Given the description of an element on the screen output the (x, y) to click on. 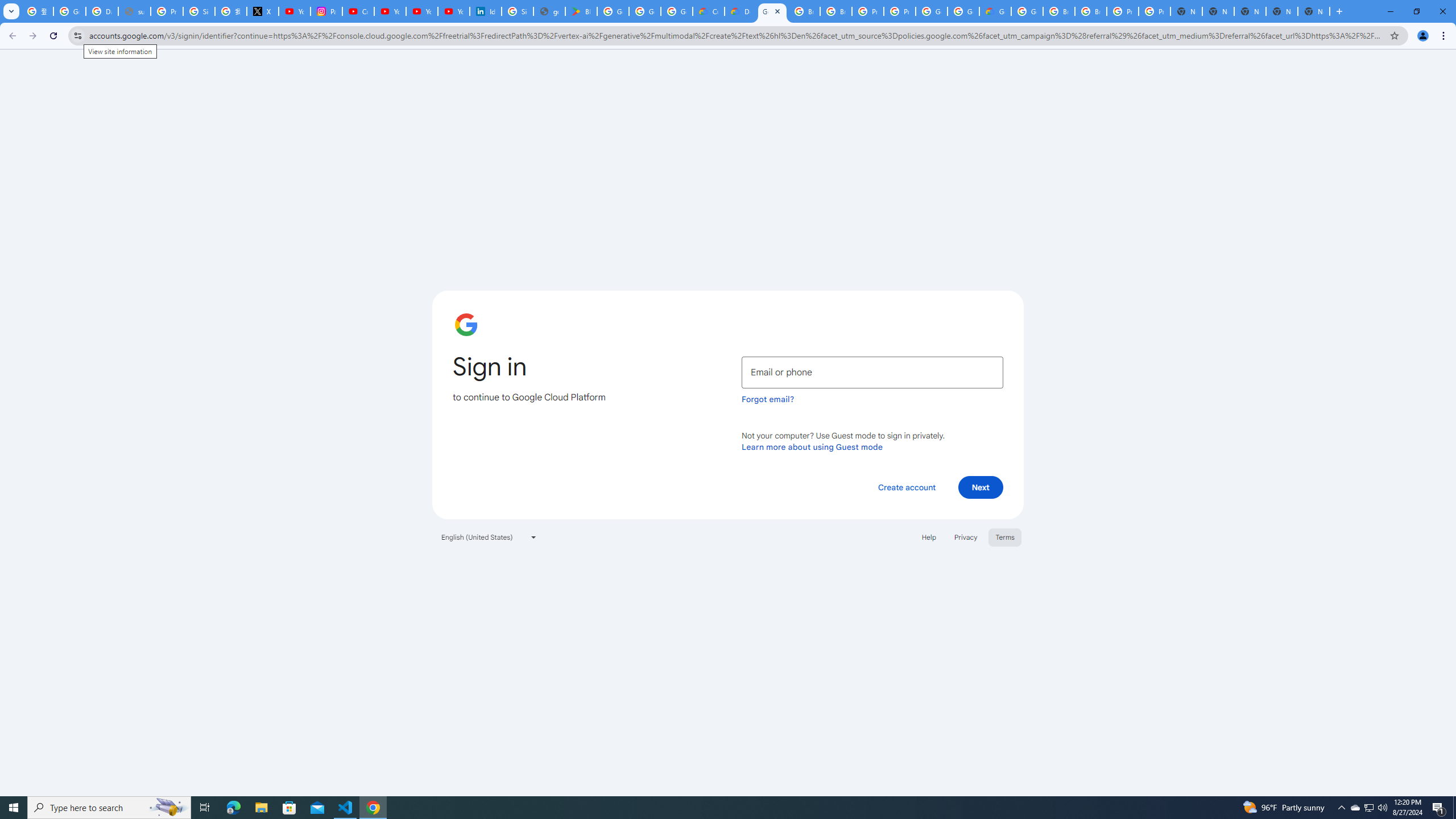
Sign in - Google Accounts (198, 11)
YouTube Culture & Trends - YouTube Top 10, 2021 (453, 11)
Customer Care | Google Cloud (708, 11)
Forgot email? (767, 398)
New Tab (1313, 11)
X (262, 11)
Google Cloud Platform (772, 11)
